Given the description of an element on the screen output the (x, y) to click on. 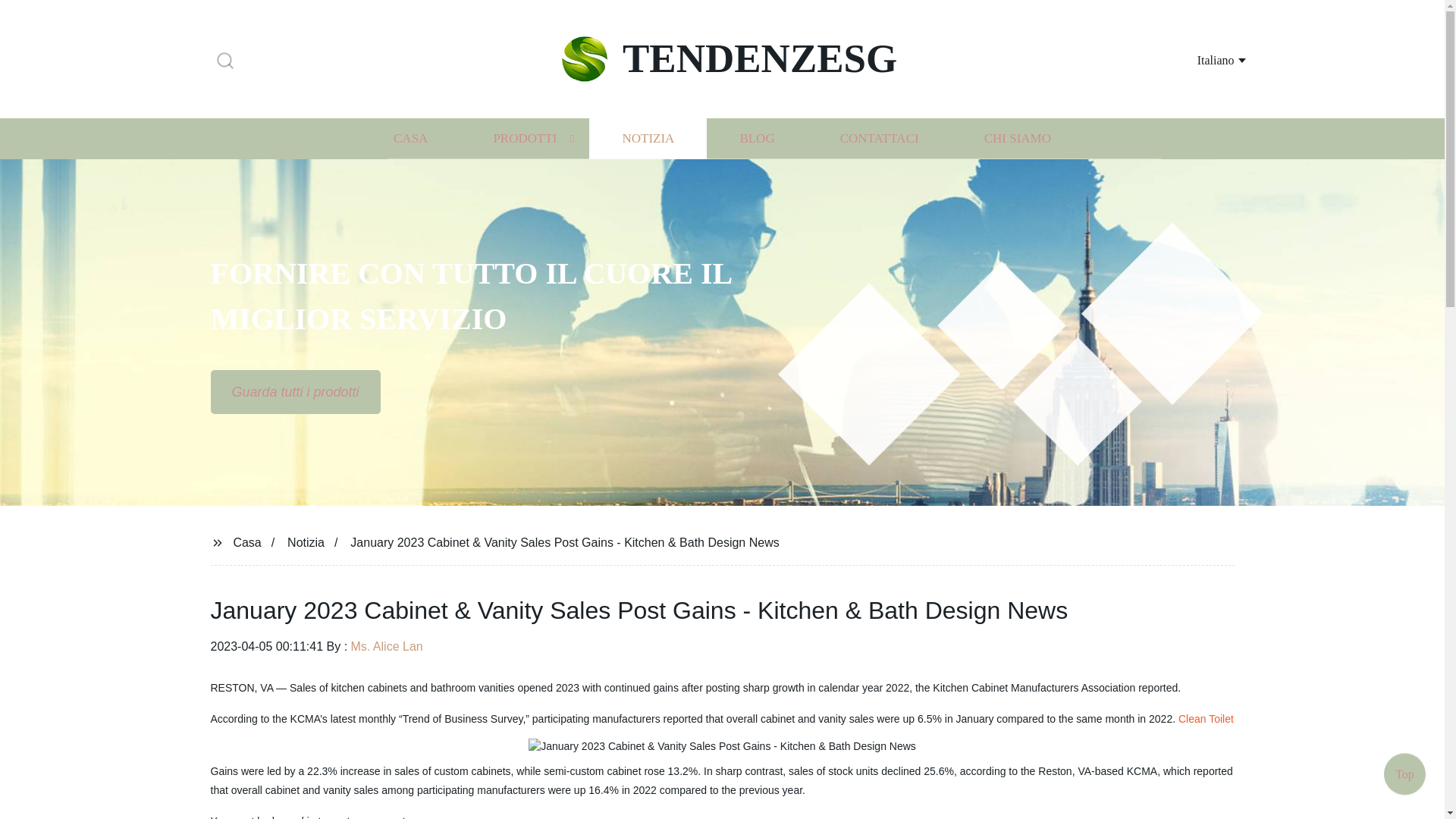
BLOG (756, 137)
Notizia (305, 541)
NOTIZIA (647, 137)
Casa (246, 541)
CHI SIAMO (1017, 137)
Italiano (1203, 59)
Clean Toilet (1205, 718)
Top (1404, 777)
Italiano (1203, 59)
CONTATTACI (880, 137)
CASA (410, 137)
PRODOTTI (524, 137)
